Given the description of an element on the screen output the (x, y) to click on. 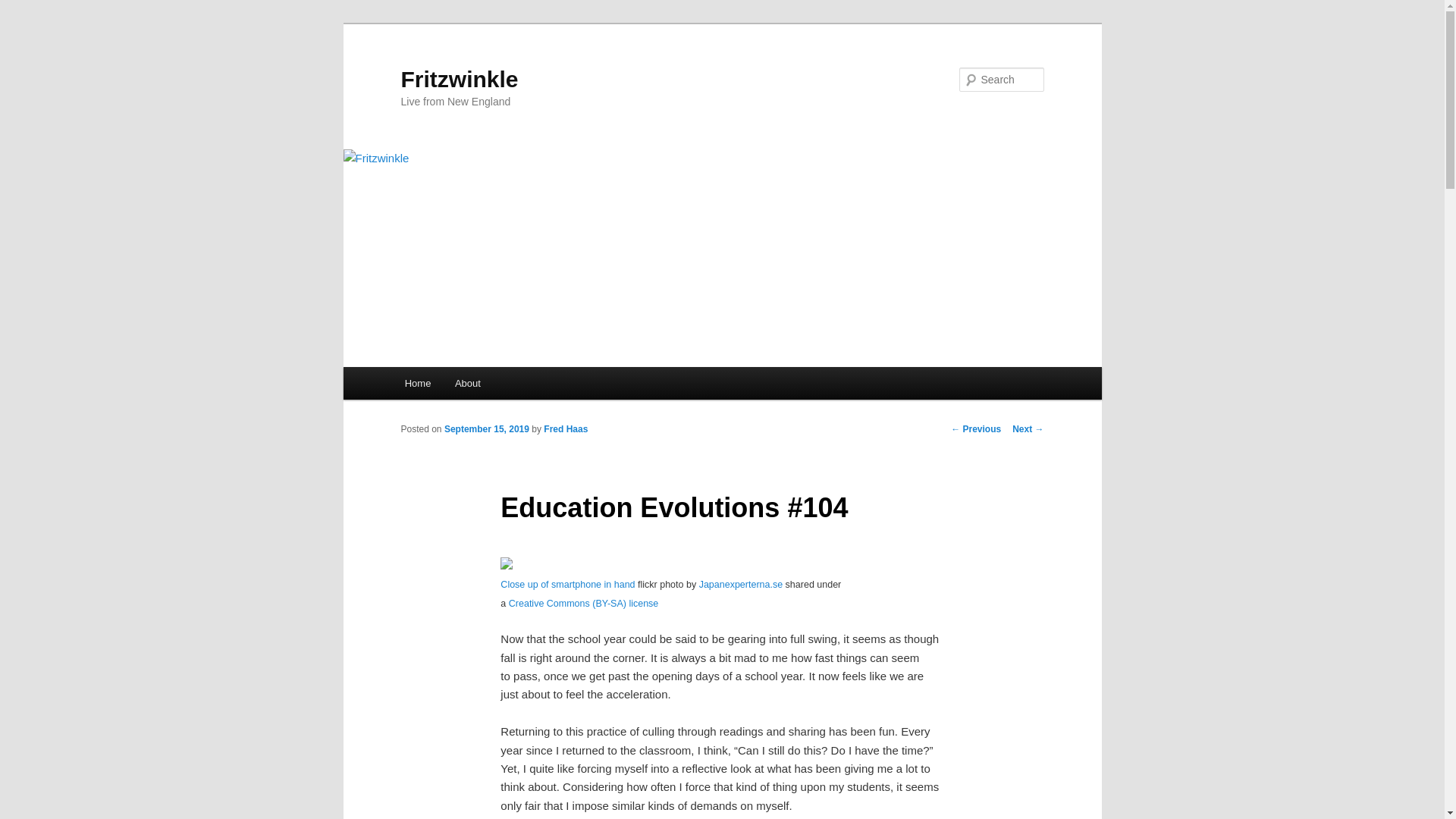
10:00 PM (486, 429)
Search (24, 8)
September 15, 2019 (486, 429)
Close up of smartphone in hand (506, 564)
Japanexperterna.se (740, 584)
About (467, 382)
Close up of smartphone in hand (567, 584)
View all posts by Fred Haas (565, 429)
Fritzwinkle (459, 78)
